Given the description of an element on the screen output the (x, y) to click on. 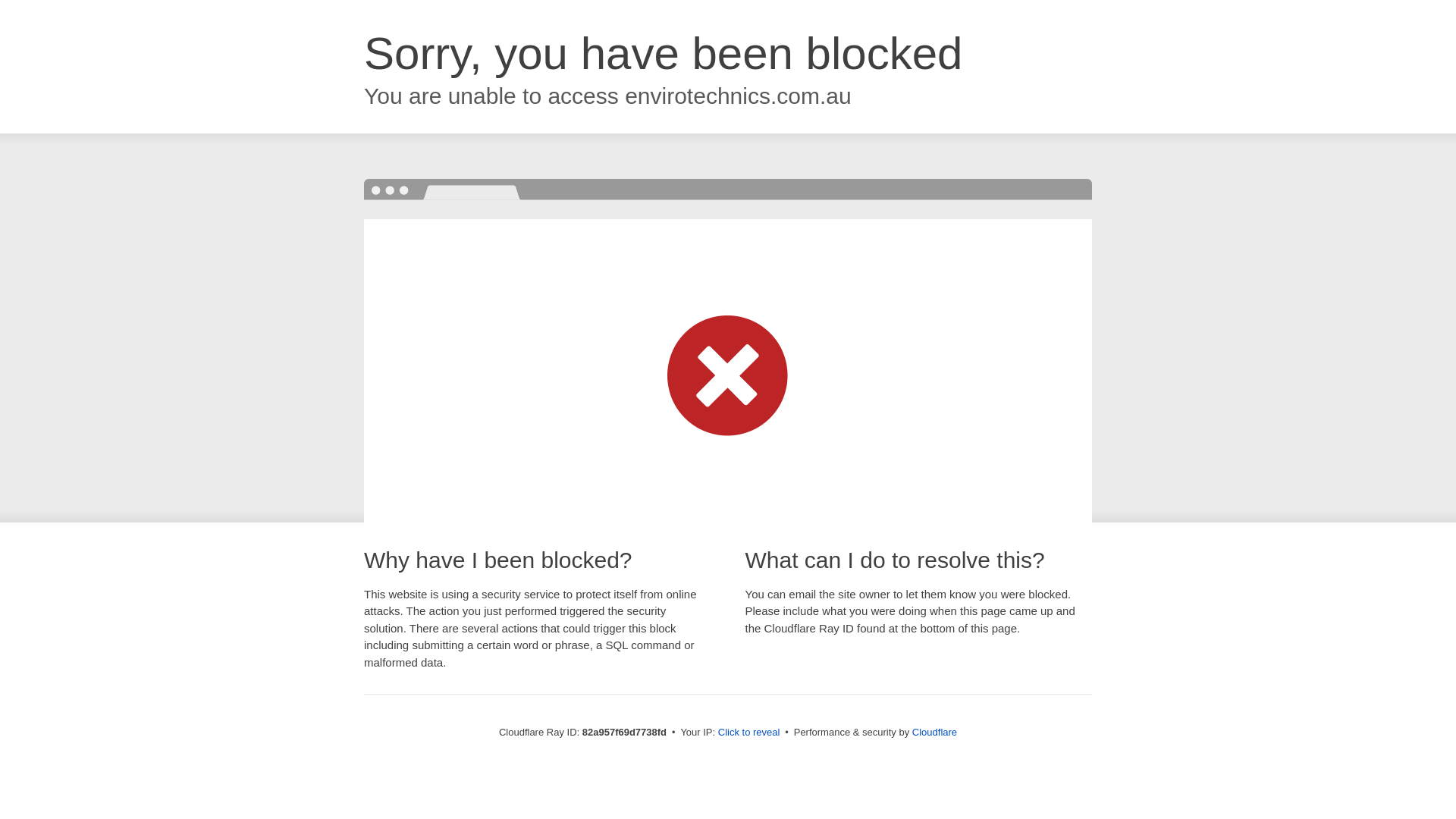
Cloudflare Element type: text (934, 731)
Click to reveal Element type: text (749, 732)
